Given the description of an element on the screen output the (x, y) to click on. 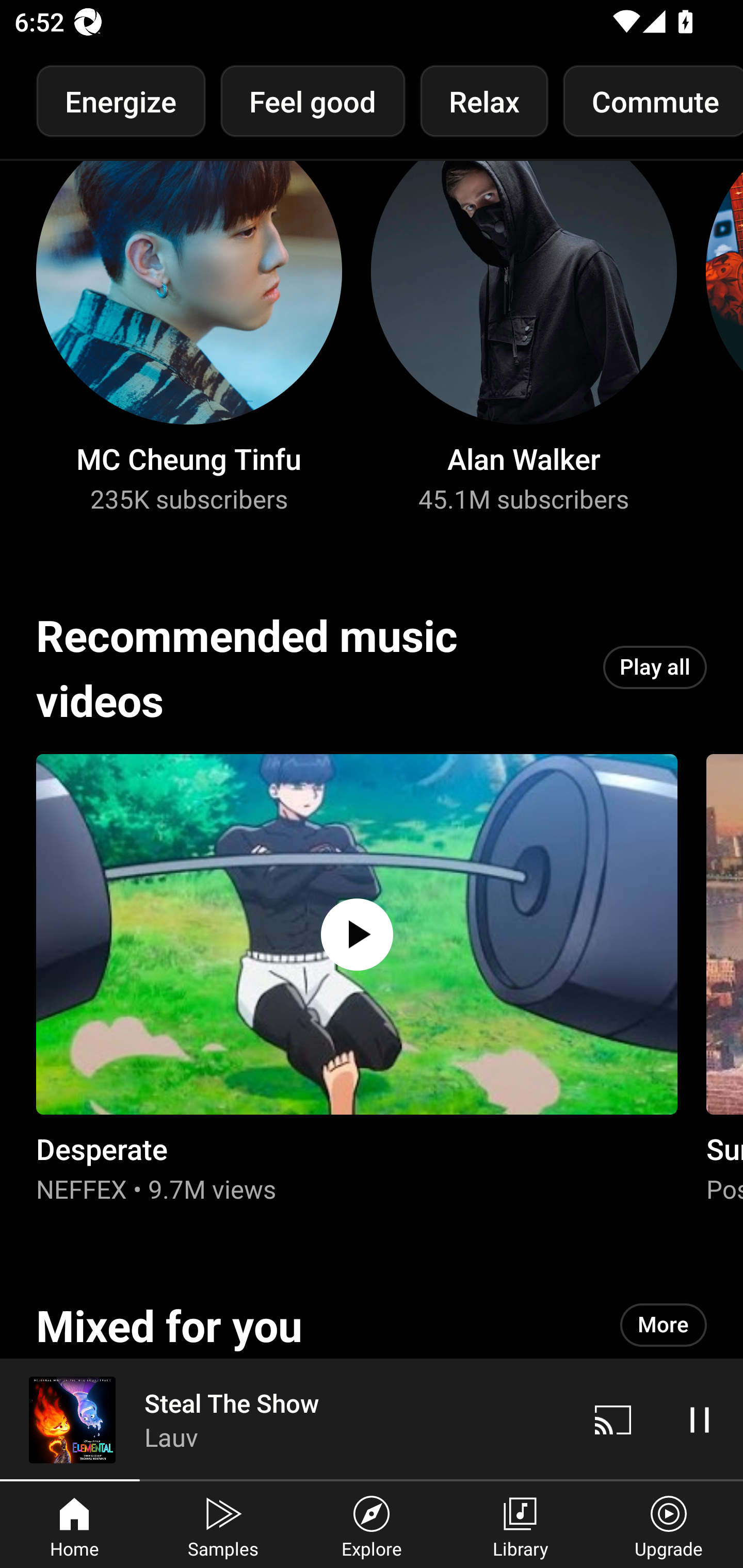
Cast. Disconnected (612, 1419)
Pause video (699, 1419)
Samples (222, 1524)
Explore (371, 1524)
Library (519, 1524)
Upgrade (668, 1524)
